Given the description of an element on the screen output the (x, y) to click on. 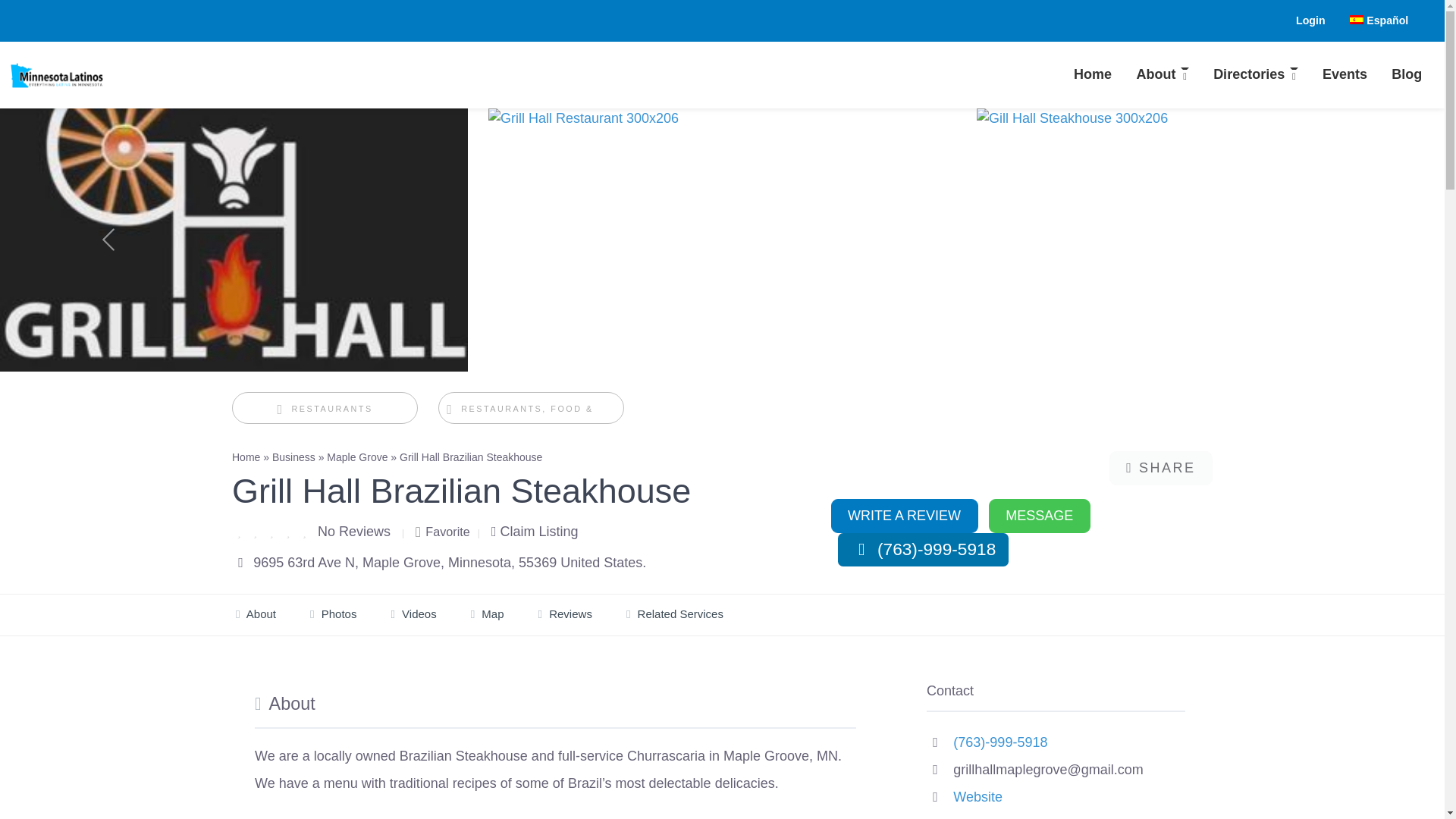
Claim Listing (535, 531)
About (1162, 75)
Home (1092, 75)
About (1162, 75)
Maple Grove (356, 457)
Home (1092, 75)
Events (1344, 75)
No Reviews (353, 531)
RESTAURANTS (324, 408)
Business (293, 457)
